Given the description of an element on the screen output the (x, y) to click on. 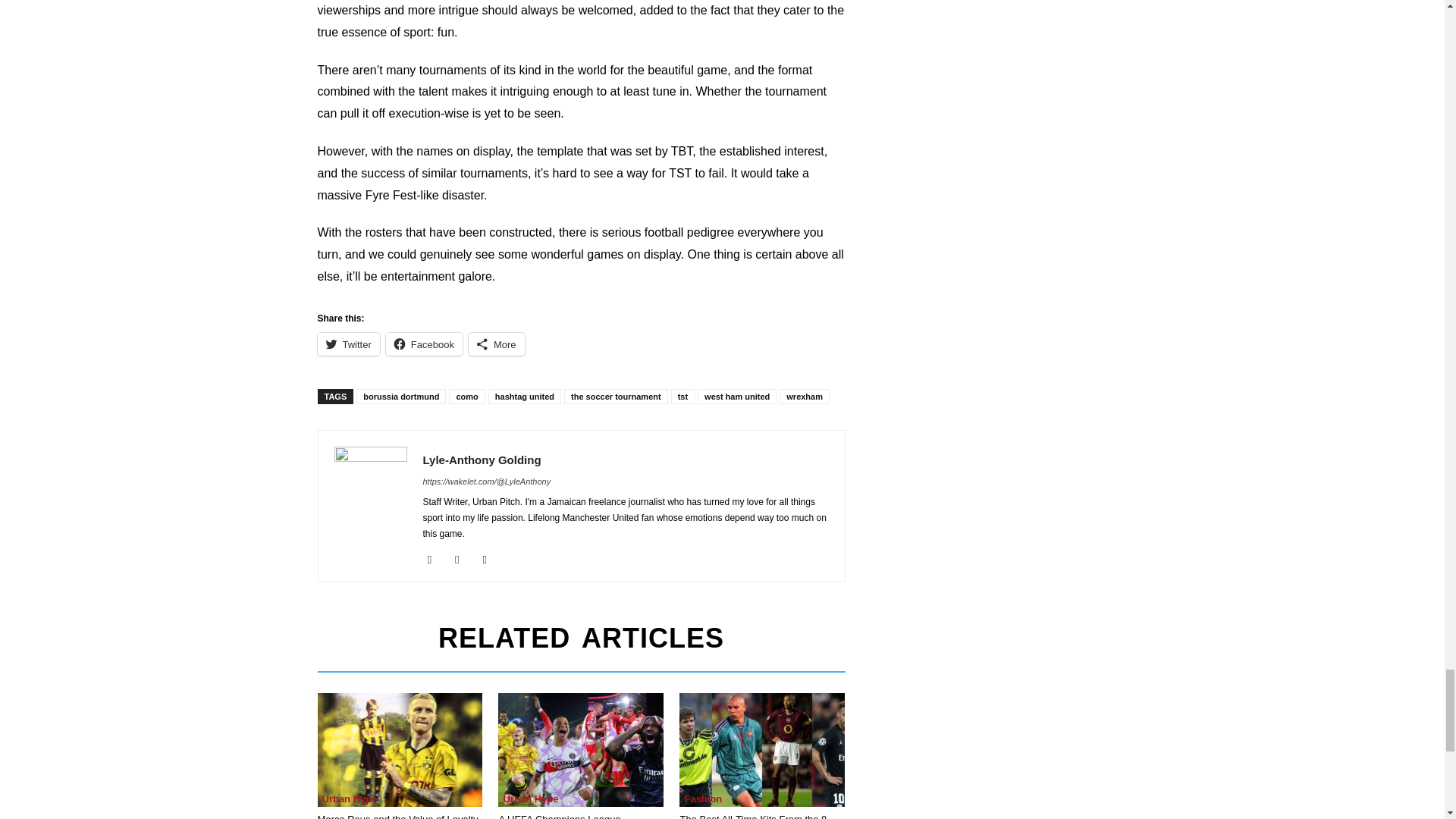
Linkedin (462, 559)
Twitter (489, 559)
Marco Reus and the Value of Loyalty (399, 749)
Click to share on Facebook (424, 343)
Instagram (435, 559)
Click to share on Twitter (347, 343)
